Given the description of an element on the screen output the (x, y) to click on. 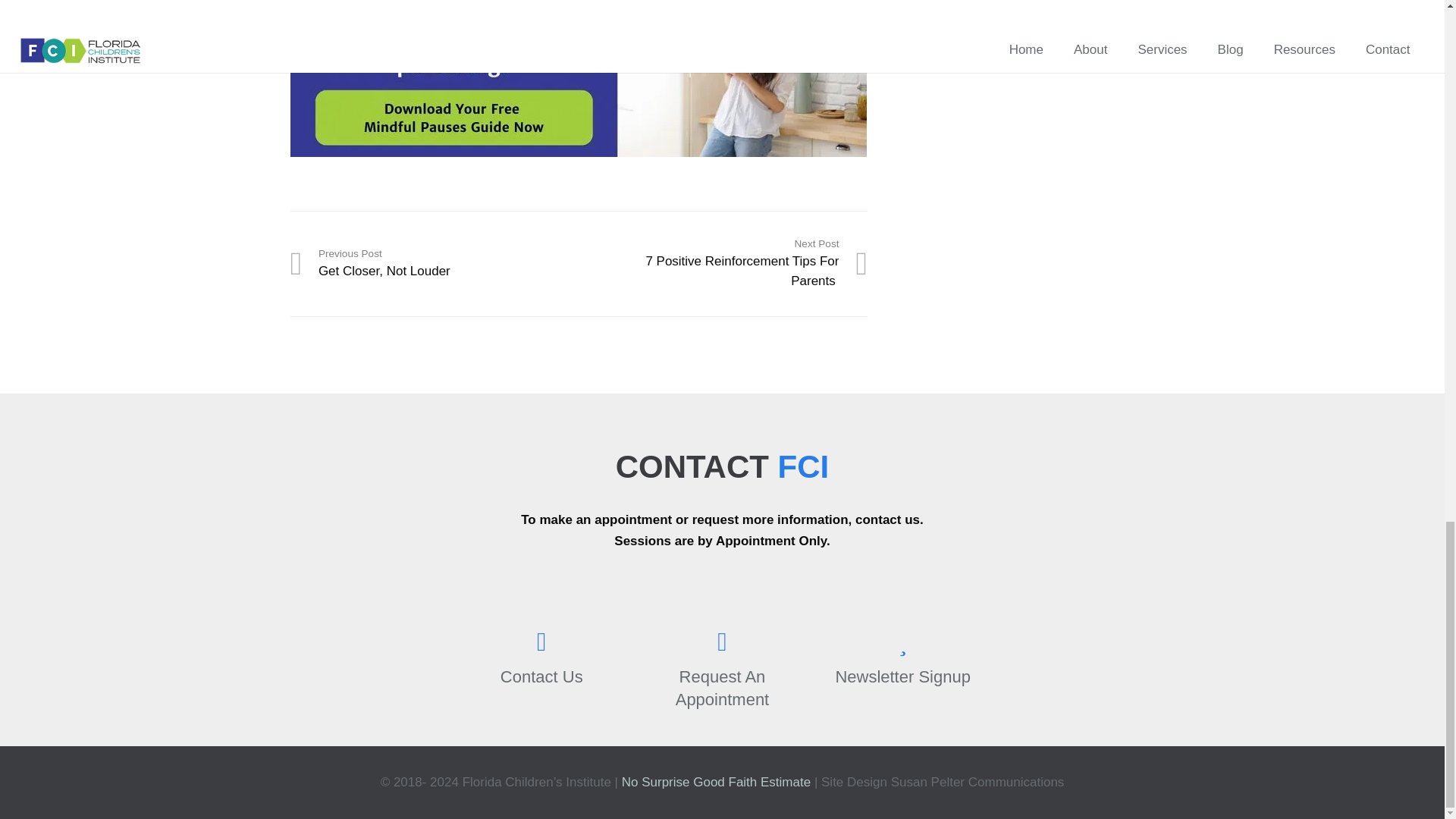
Get Closer, Not Louder (433, 263)
